Given the description of an element on the screen output the (x, y) to click on. 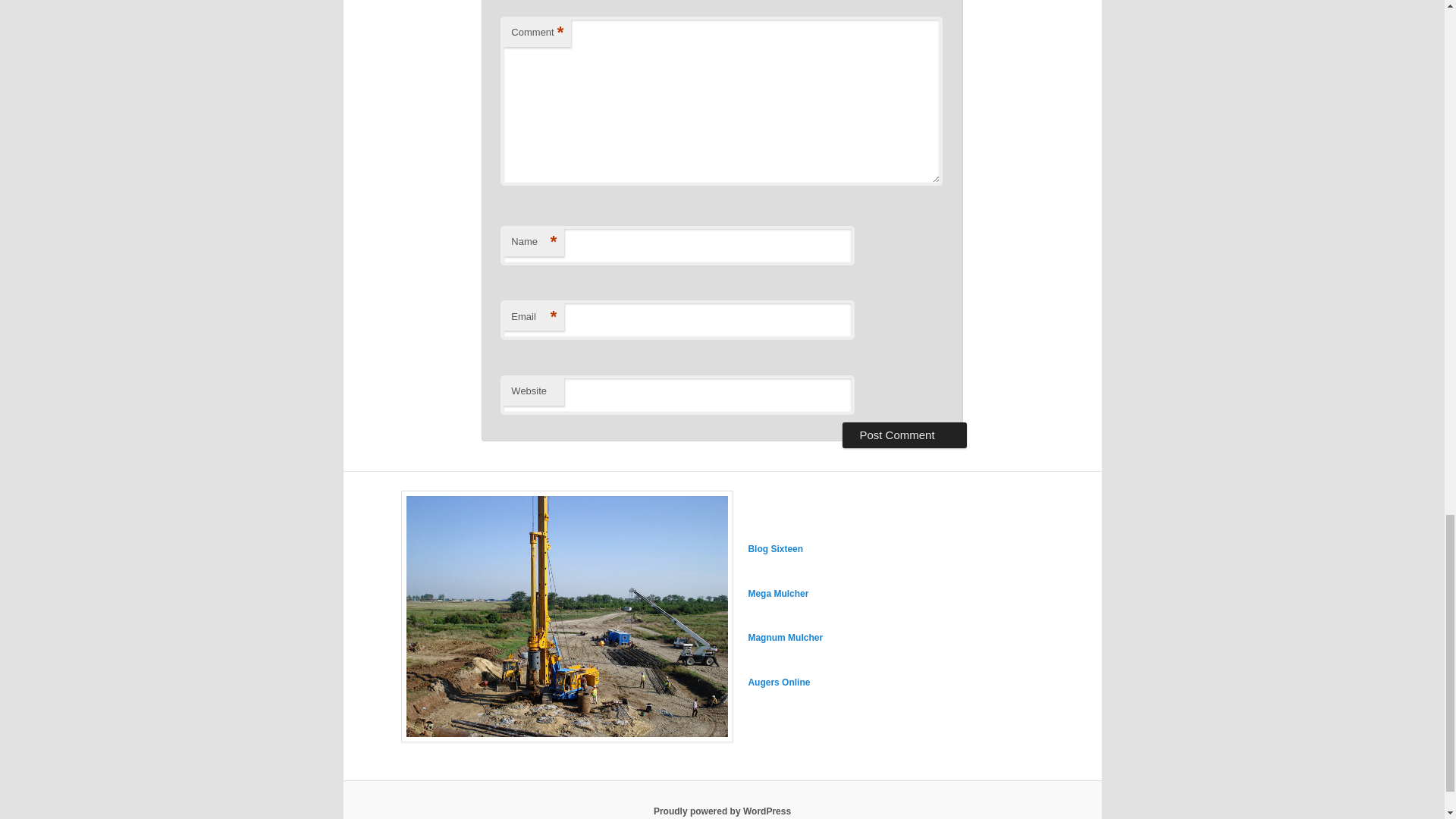
Magnum Mulcher (785, 637)
Blog Sixteen (775, 548)
Semantic Personal Publishing Platform (721, 810)
Post Comment (904, 434)
Proudly powered by WordPress (721, 810)
Post Comment (904, 434)
Mega Mulcher (778, 593)
Augers Online (778, 682)
